Given the description of an element on the screen output the (x, y) to click on. 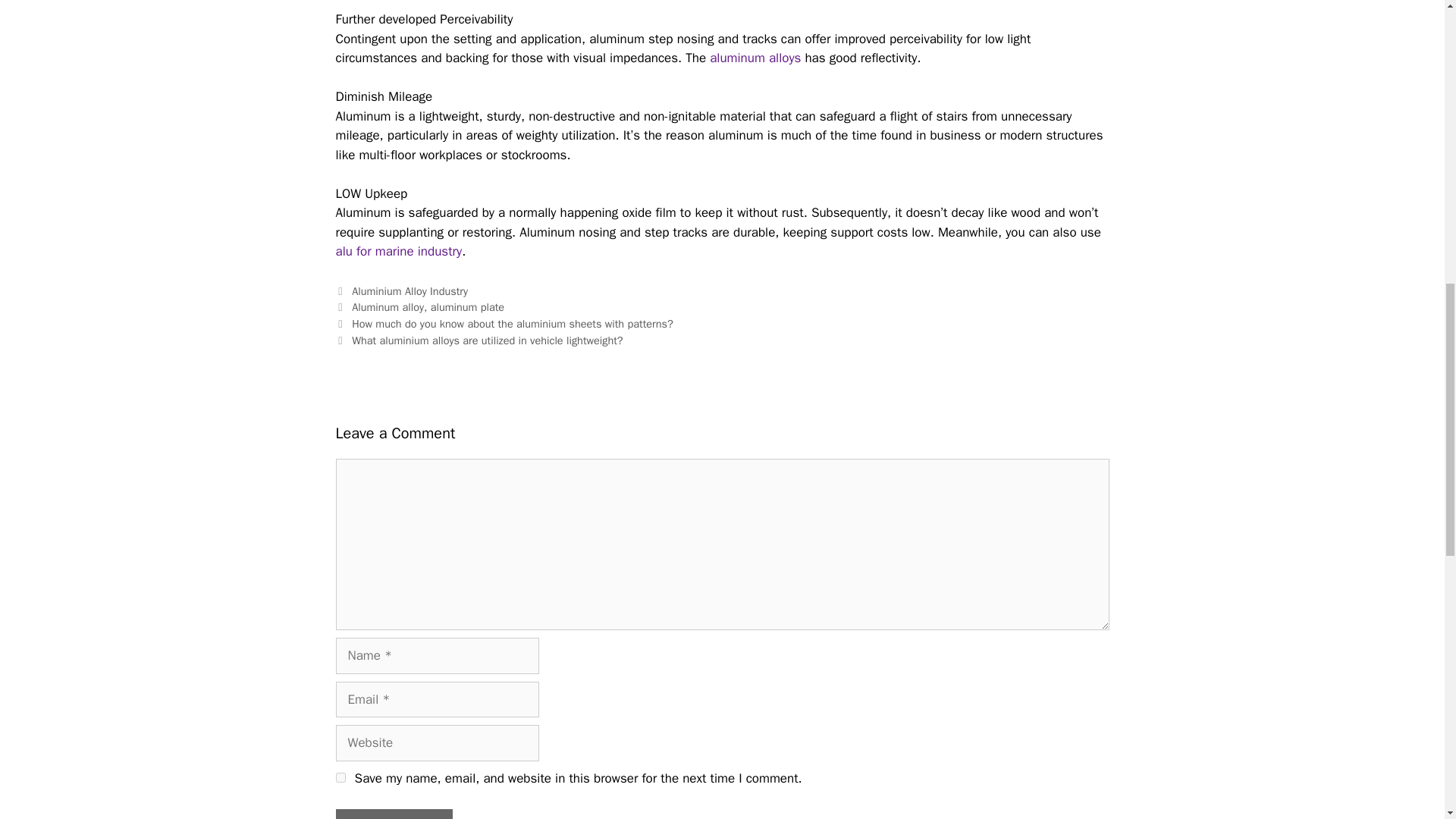
Next (478, 340)
Aluminium Alloy Industry (409, 291)
aluminum plate (466, 306)
Post Comment (392, 814)
Post Comment (392, 814)
aluminum alloys (755, 57)
What aluminium alloys are utilized in vehicle lightweight? (487, 340)
Previous (503, 323)
Aluminum alloy (387, 306)
yes (339, 777)
alu for marine industry (397, 251)
